Given the description of an element on the screen output the (x, y) to click on. 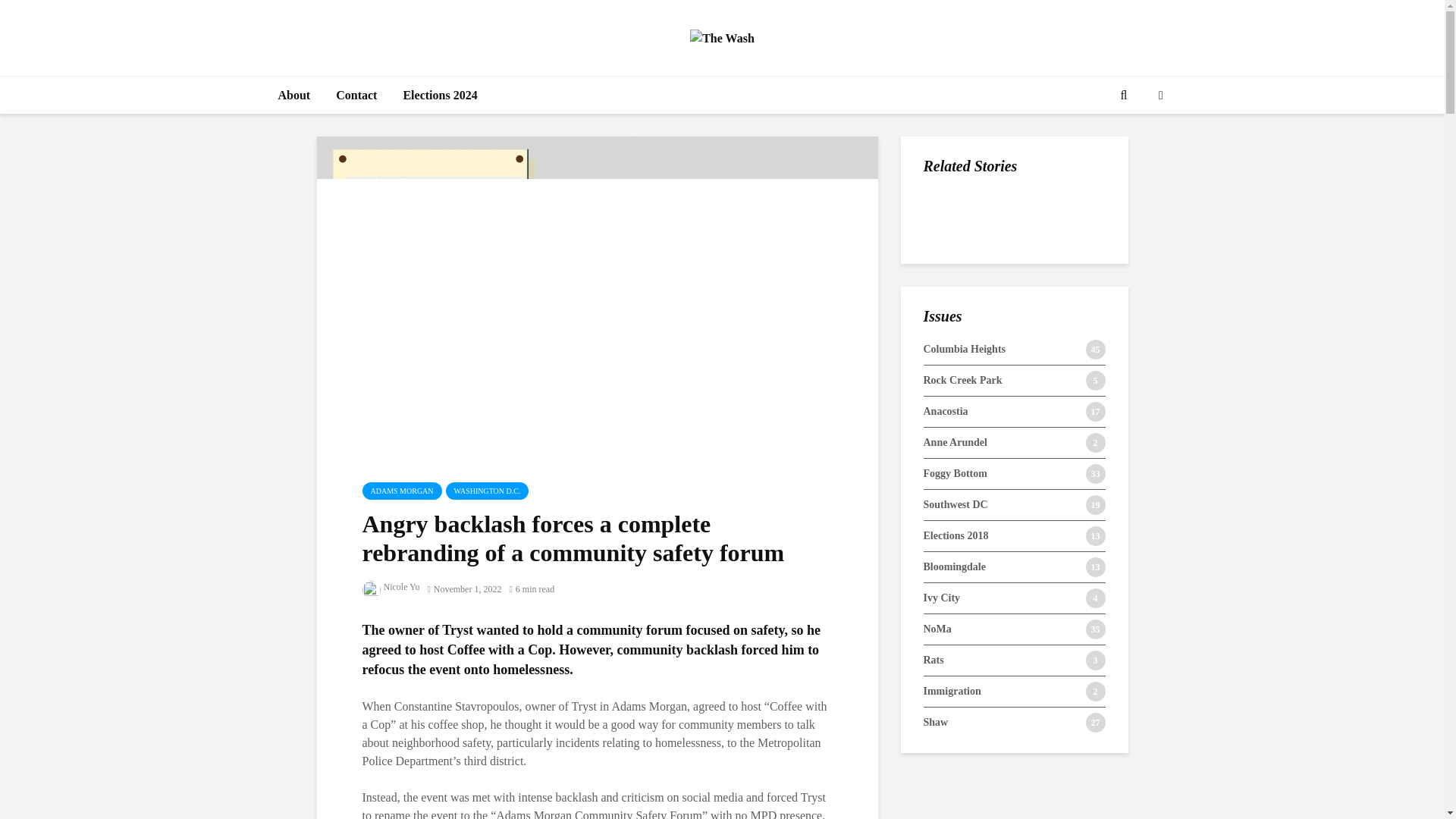
Nicole Yu (391, 586)
ADAMS MORGAN (402, 490)
WASHINGTON D.C. (487, 490)
Elections 2024 (439, 95)
Contact (356, 95)
About (293, 95)
